Given the description of an element on the screen output the (x, y) to click on. 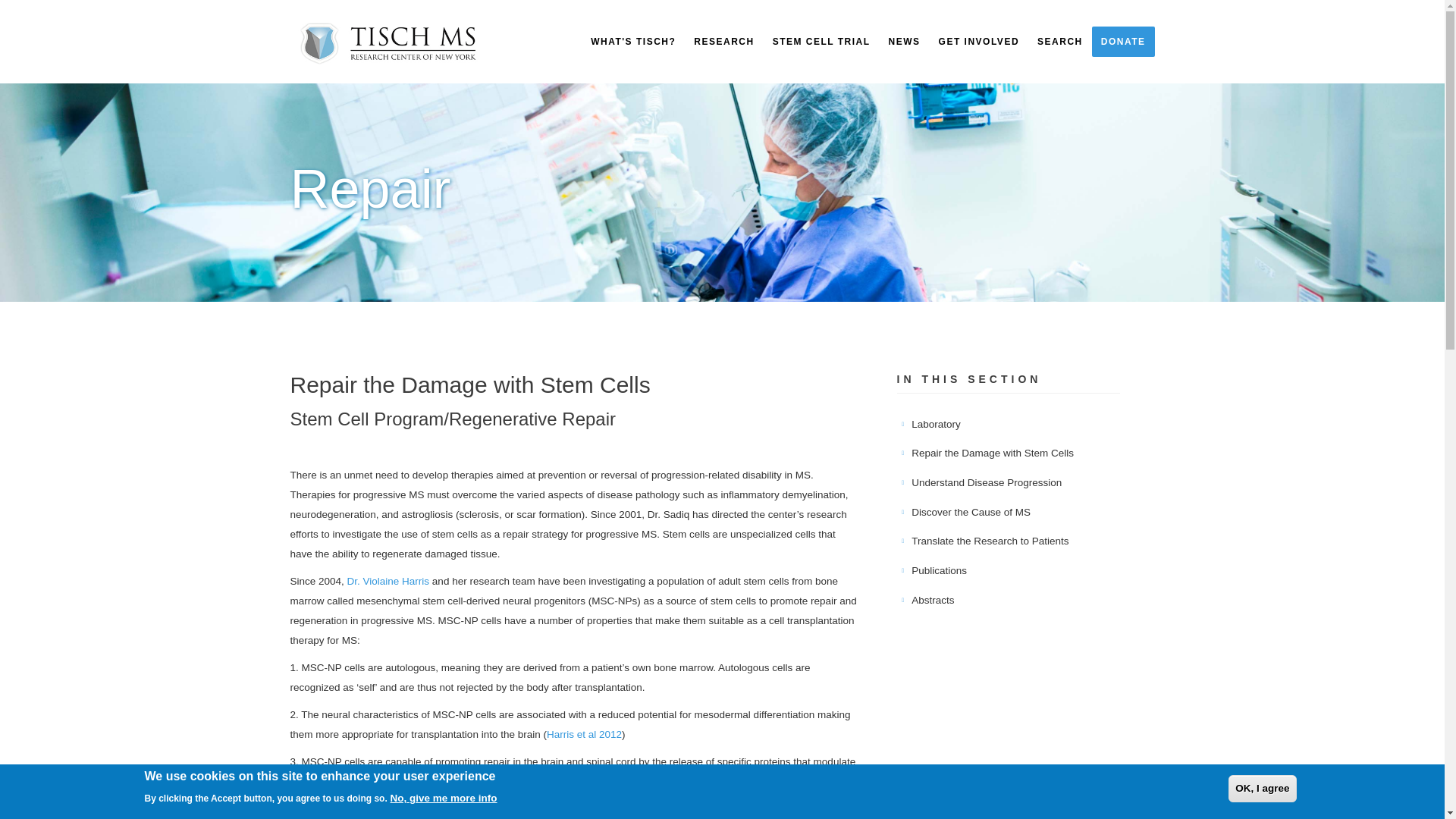
WHAT'S TISCH? (632, 41)
Learn About Our Research (723, 41)
NEWS (904, 41)
GET INVOLVED (978, 41)
STEM CELL TRIAL (820, 41)
RESEARCH (723, 41)
